Given the description of an element on the screen output the (x, y) to click on. 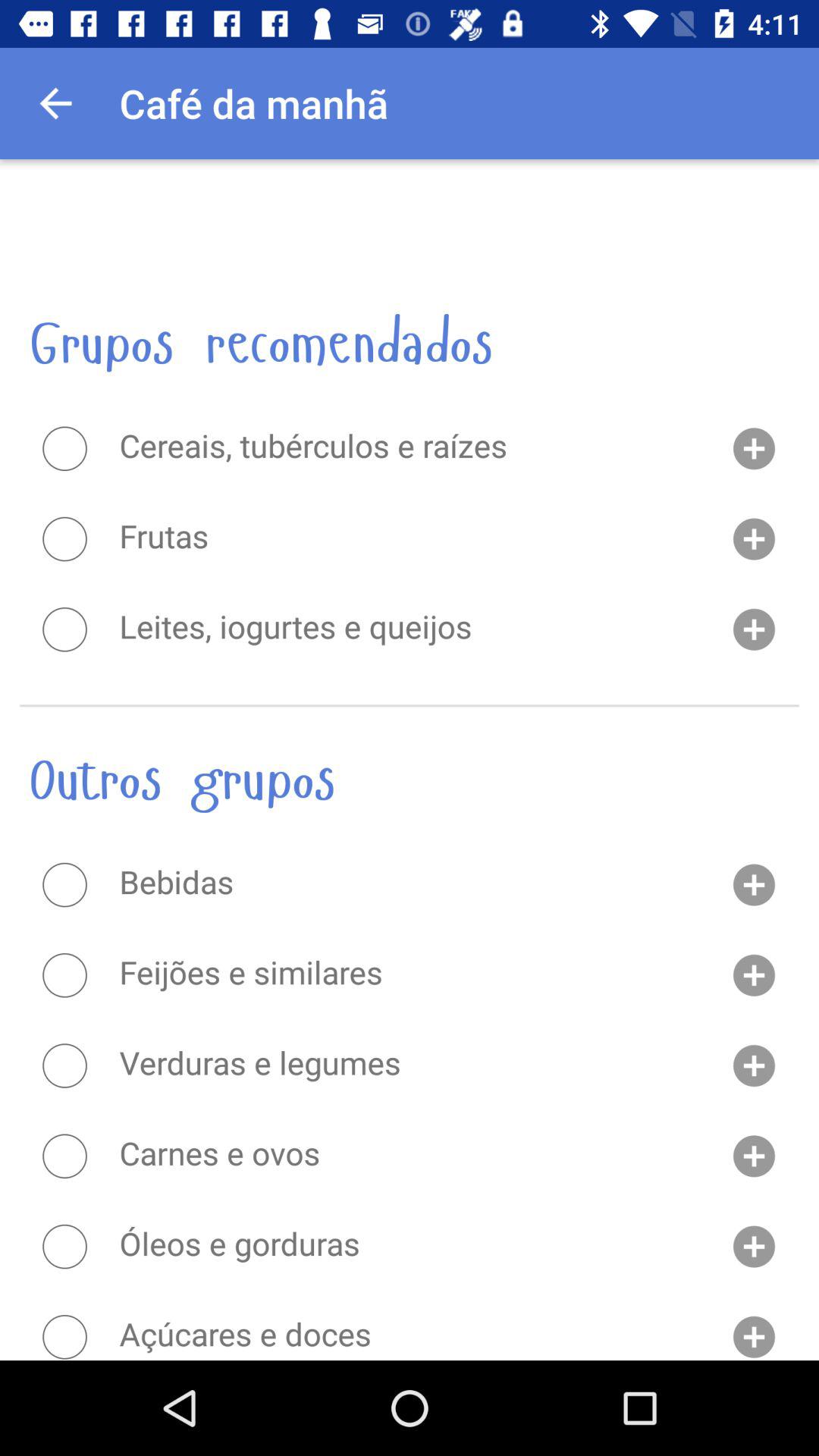
select item (64, 884)
